Given the description of an element on the screen output the (x, y) to click on. 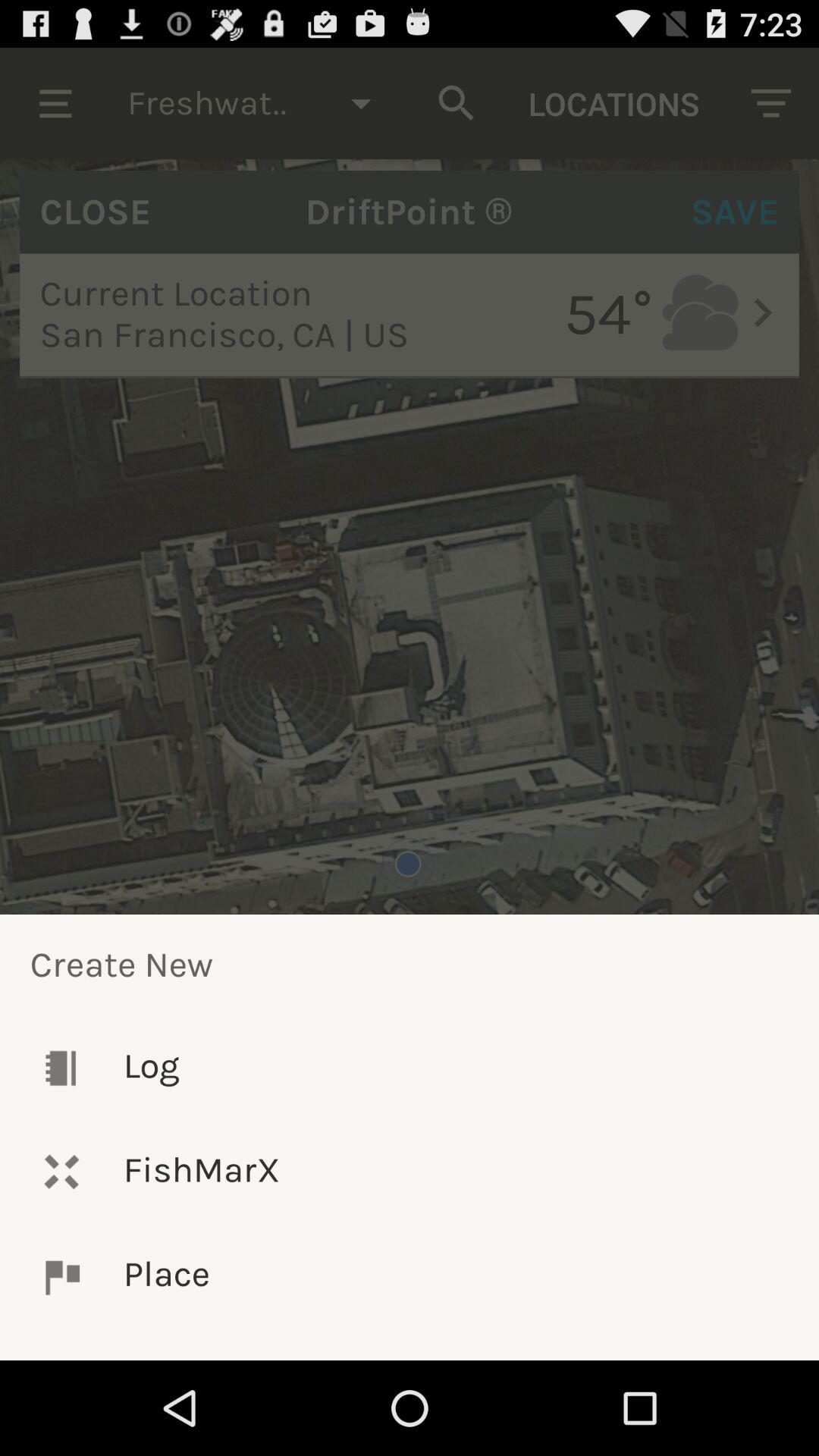
tap icon above the place item (409, 1171)
